Given the description of an element on the screen output the (x, y) to click on. 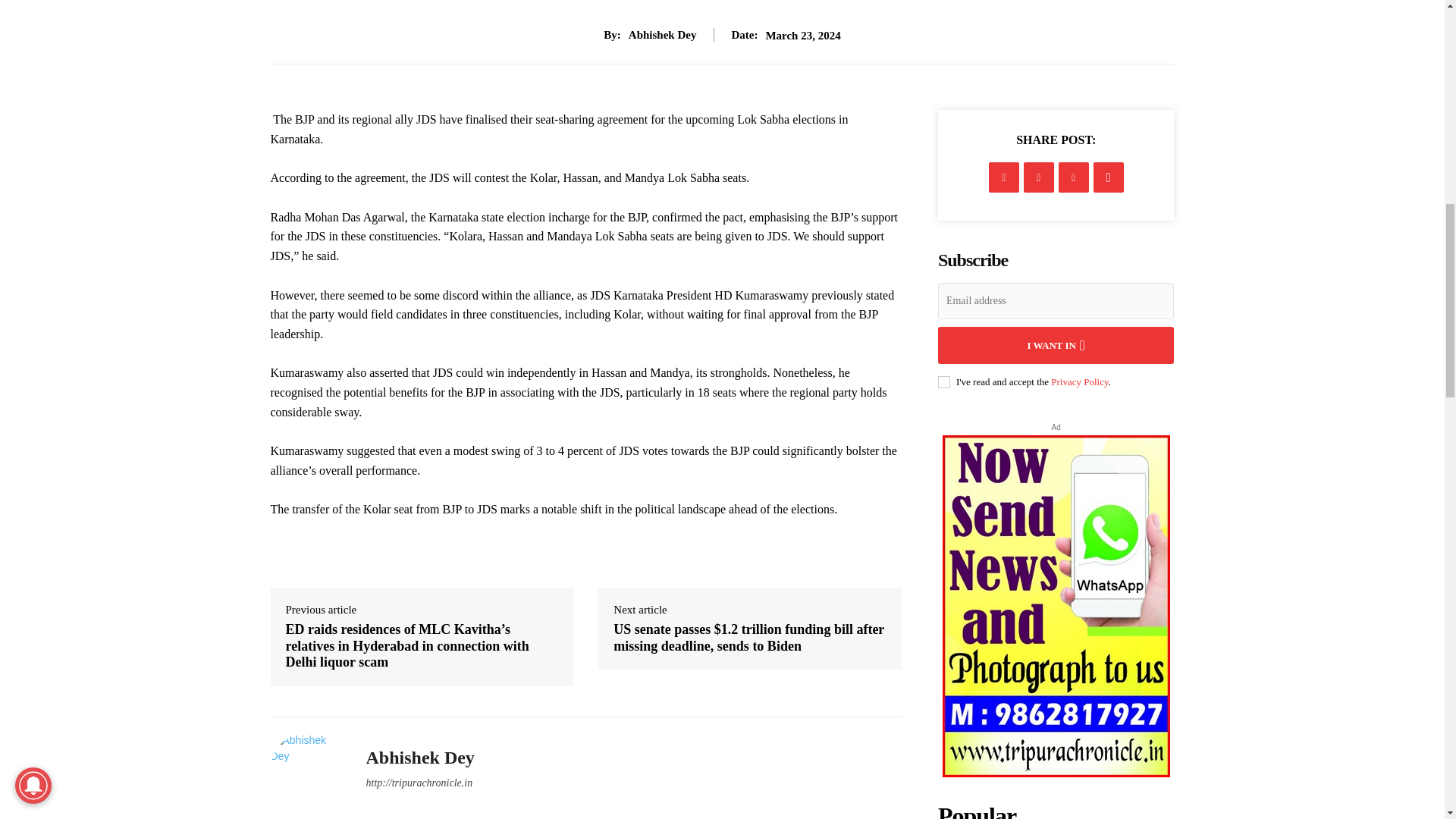
Abhishek Dey (305, 768)
Pinterest (1073, 177)
Facebook (1003, 177)
Twitter (1038, 177)
WhatsApp (1108, 177)
